Given the description of an element on the screen output the (x, y) to click on. 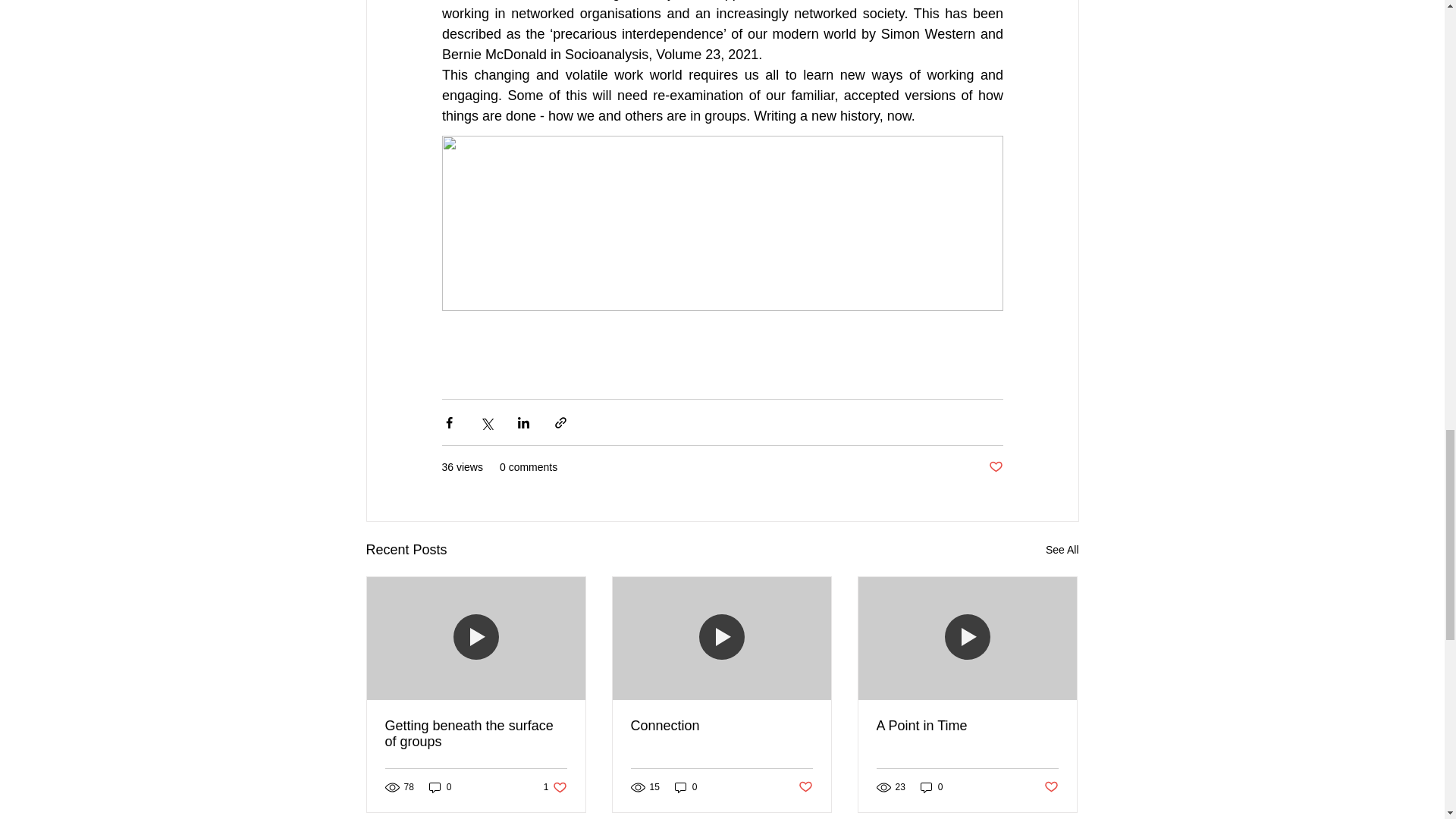
Post not marked as liked (995, 467)
A Point in Time (967, 725)
0 (931, 787)
See All (1061, 549)
0 (440, 787)
Post not marked as liked (804, 787)
Post not marked as liked (1050, 787)
0 (685, 787)
Connection (721, 725)
Getting beneath the surface of groups (555, 787)
